Given the description of an element on the screen output the (x, y) to click on. 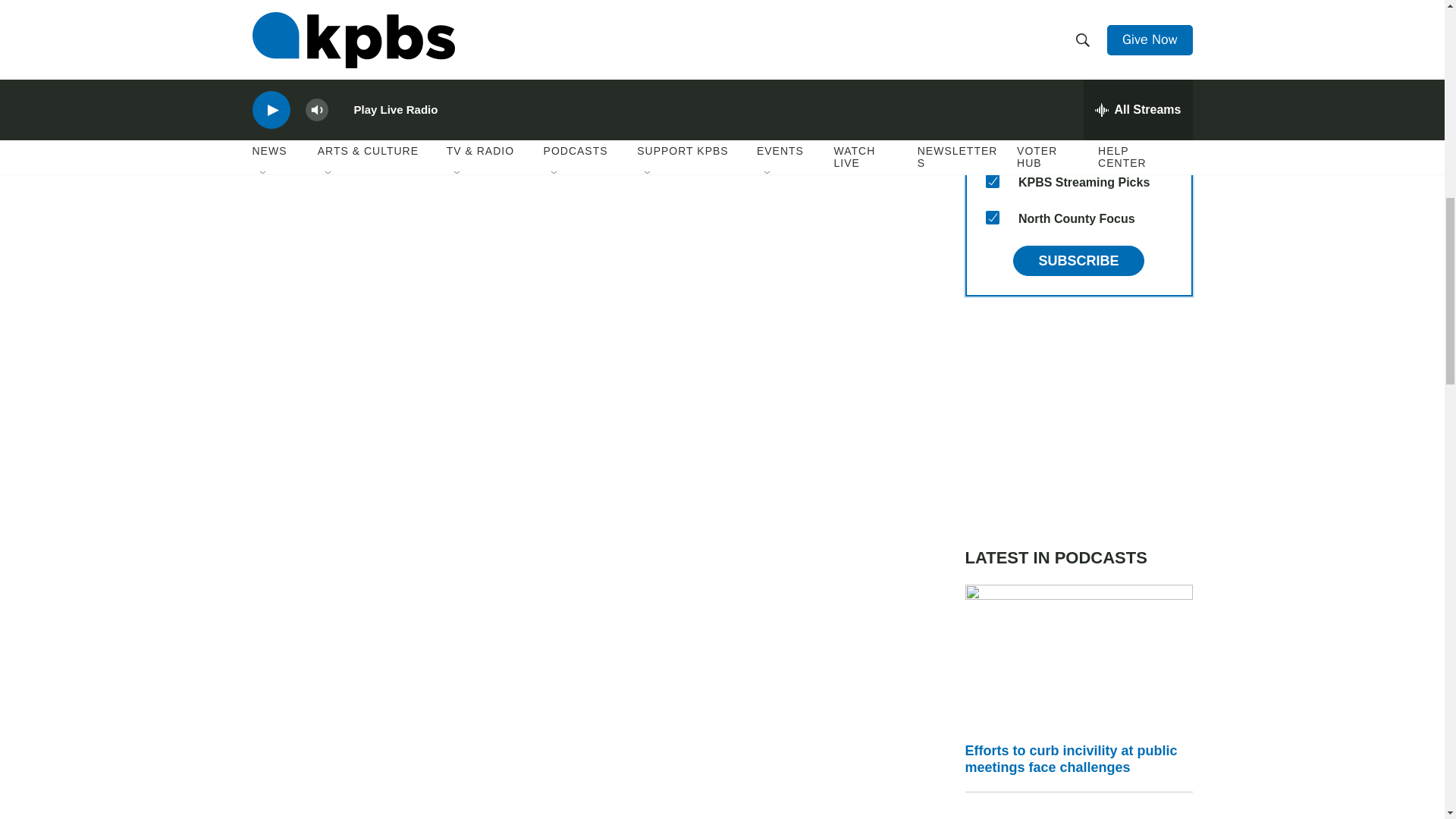
1 (991, 144)
2 (991, 108)
4 (991, 2)
6 (991, 71)
15 (991, 217)
5 (991, 35)
8 (991, 181)
